Given the description of an element on the screen output the (x, y) to click on. 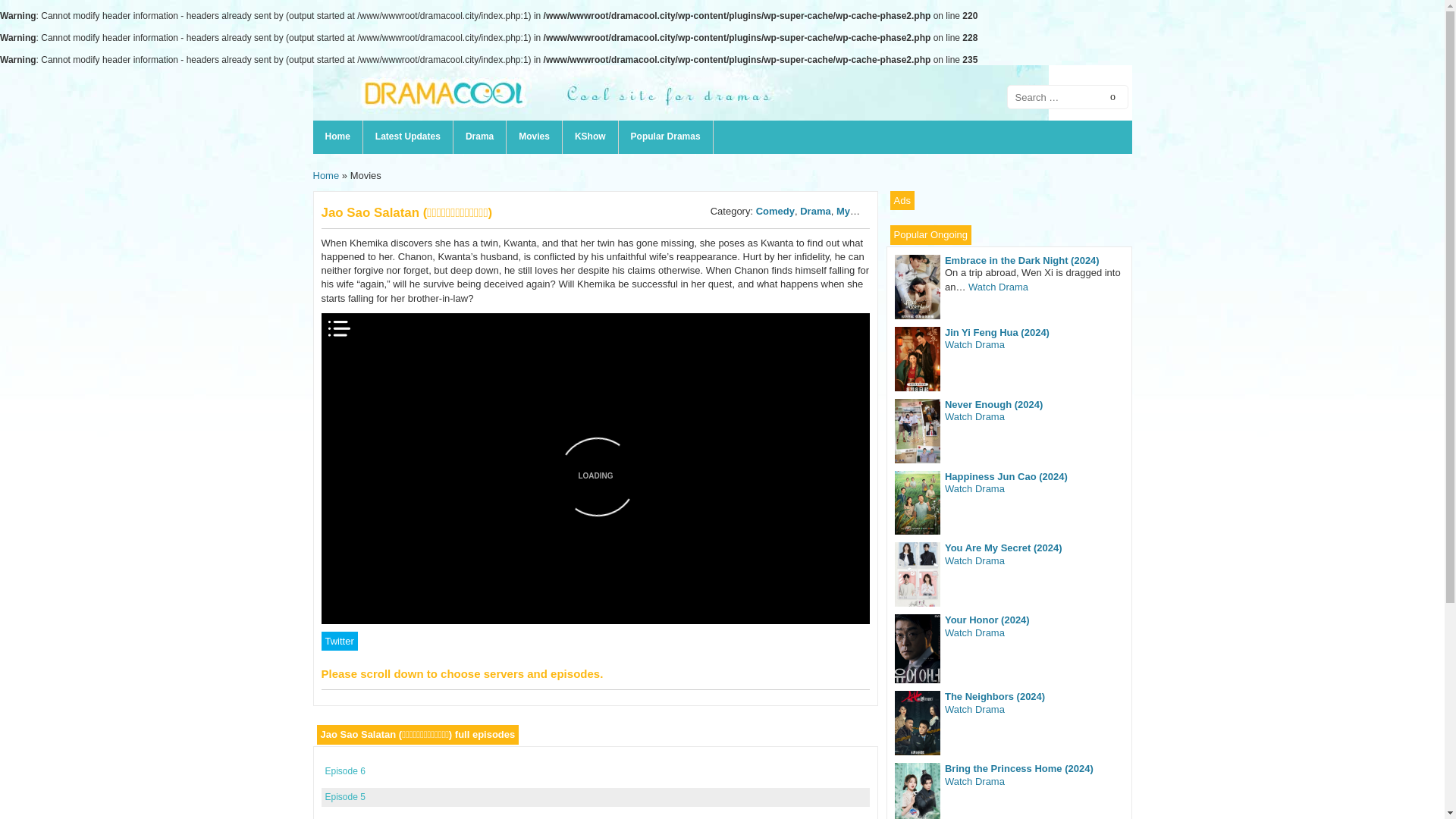
Popular Dramas (665, 136)
Movies (534, 136)
Episode 4 (344, 818)
Episode 6 (344, 770)
KShow (589, 136)
Episode 5 (344, 796)
Home (326, 174)
Mystery (854, 211)
Comedy (774, 211)
Episode 6 (344, 770)
